Given the description of an element on the screen output the (x, y) to click on. 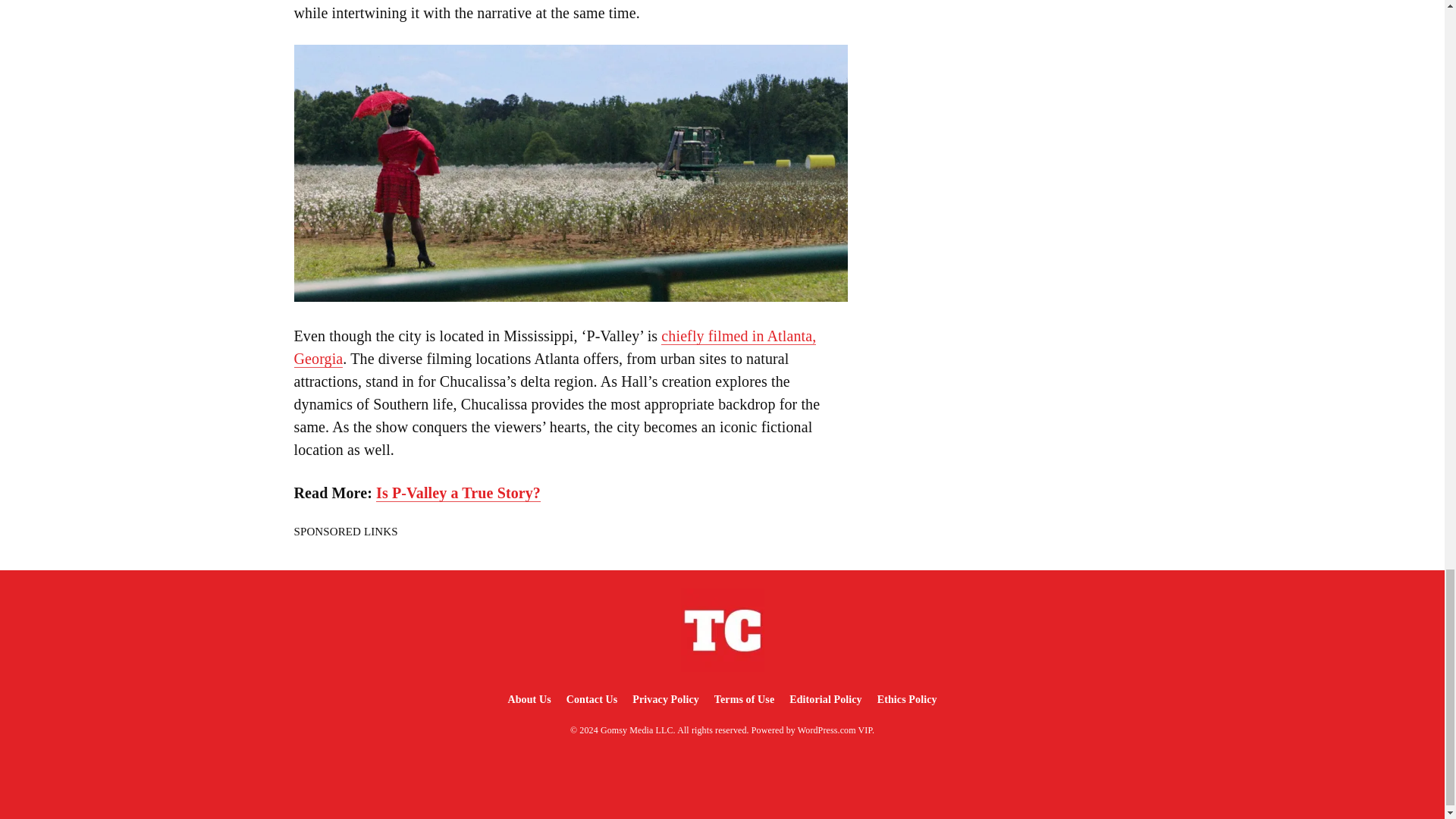
Is P-Valley a True Story? (457, 493)
About Us (528, 699)
chiefly filmed in Atlanta, Georgia (555, 347)
WordPress.com VIP (834, 729)
Is P-Valley a True Story? (457, 493)
Contact Us (592, 699)
Terms of Use (743, 699)
Ethics Policy (906, 699)
Editorial Policy (825, 699)
Privacy Policy (665, 699)
